Given the description of an element on the screen output the (x, y) to click on. 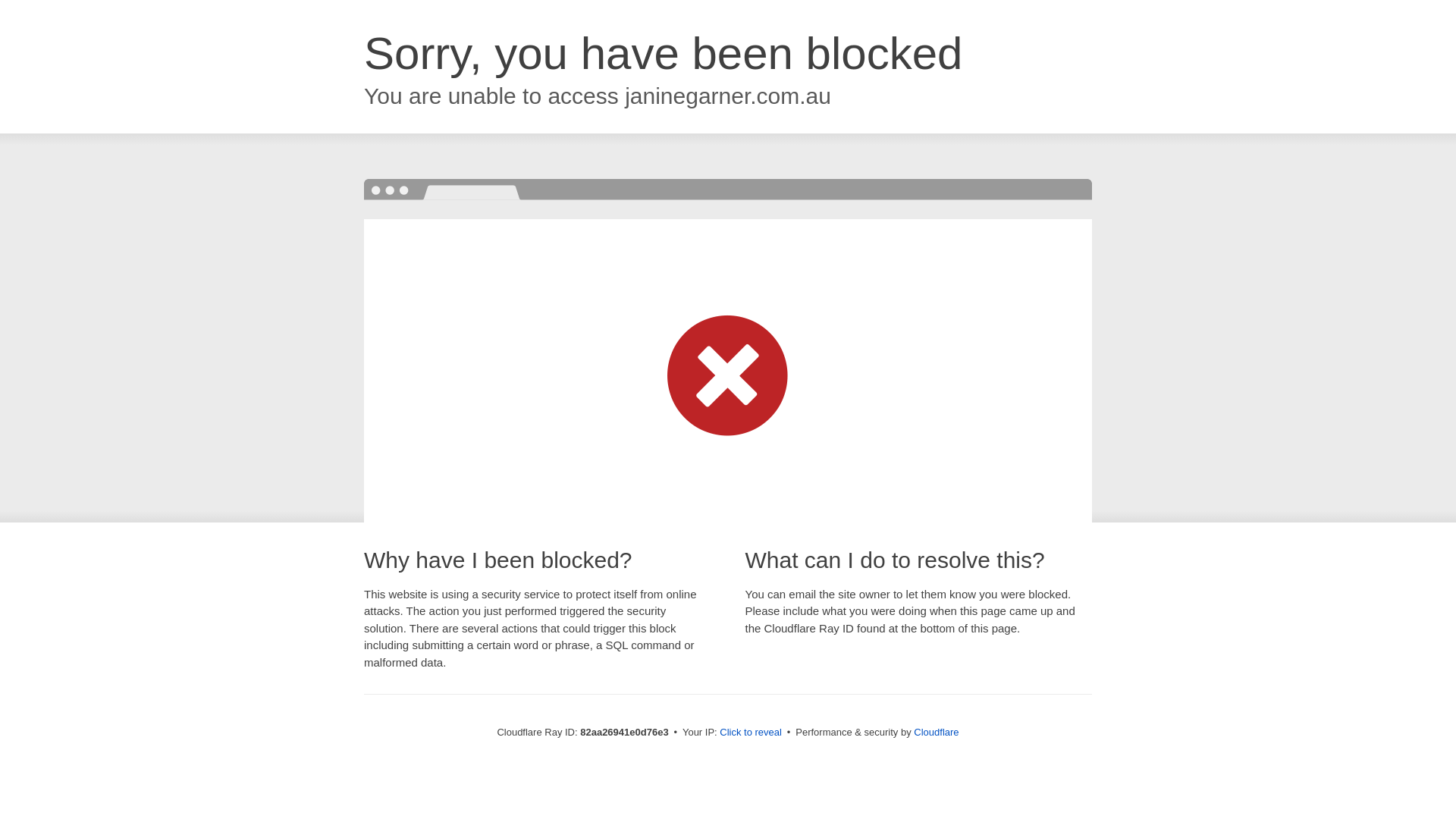
Cloudflare Element type: text (935, 731)
Click to reveal Element type: text (750, 732)
